Given the description of an element on the screen output the (x, y) to click on. 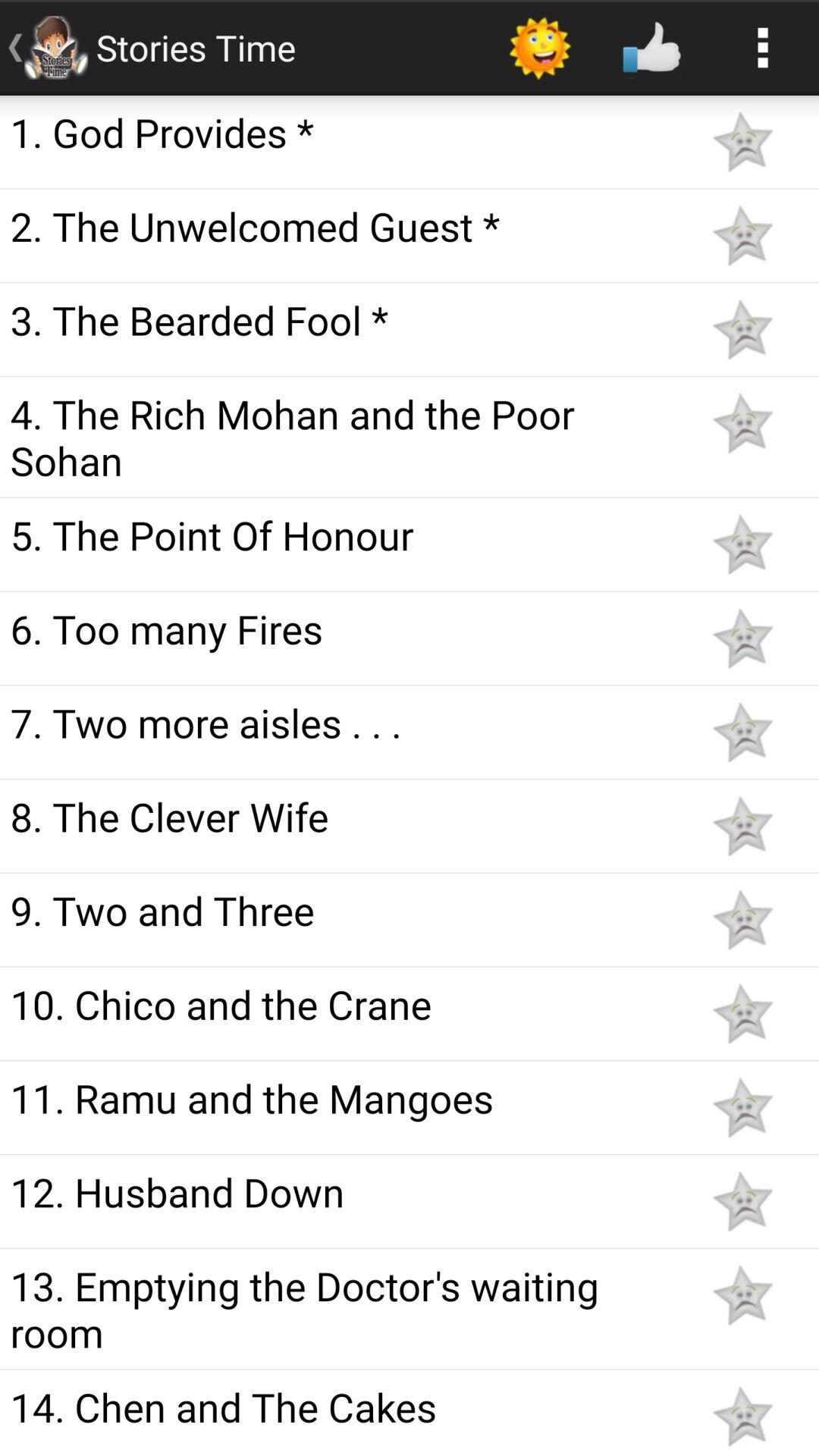
like story (742, 638)
